Given the description of an element on the screen output the (x, y) to click on. 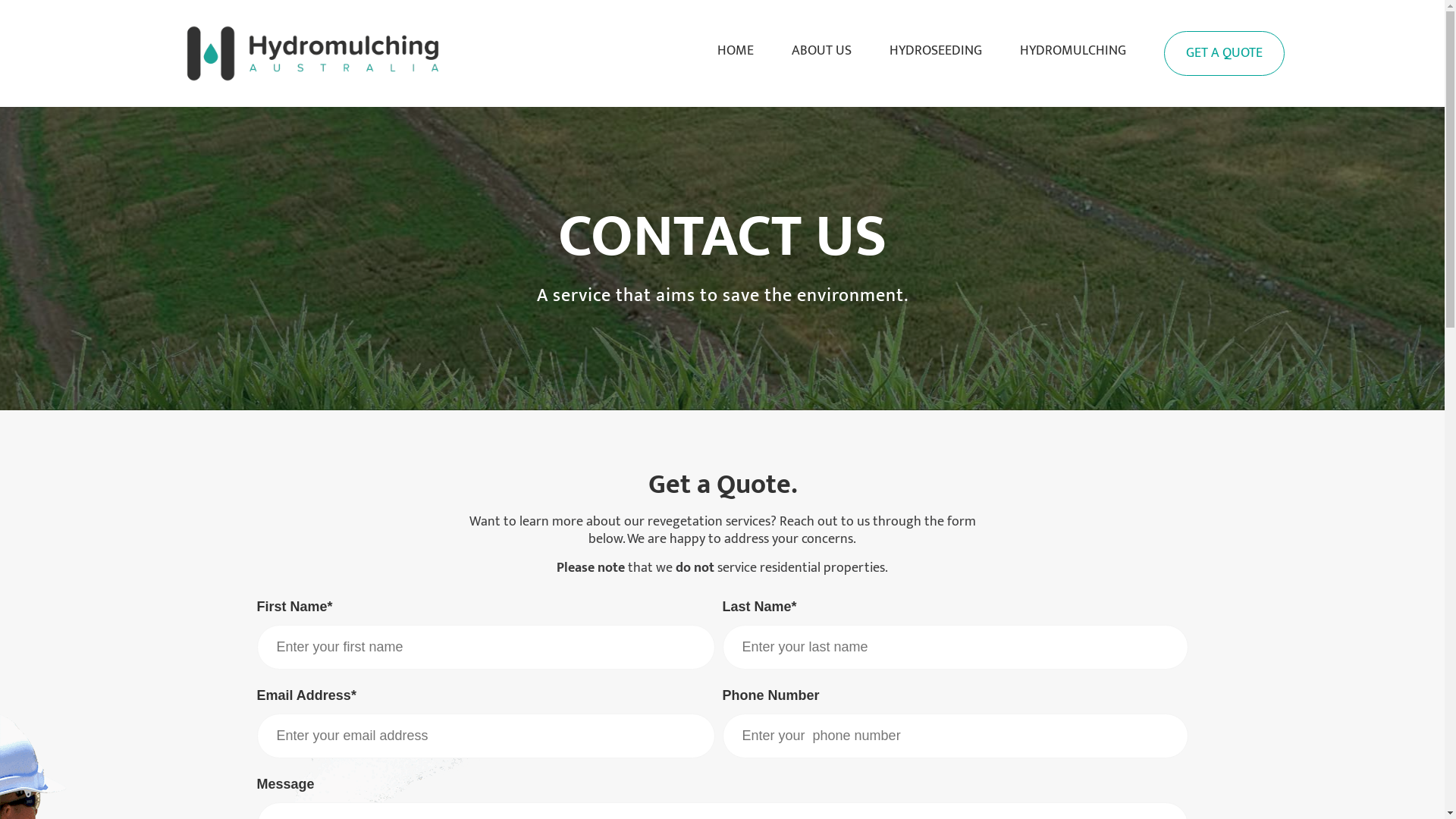
GET A QUOTE Element type: text (1224, 53)
HOME Element type: text (735, 51)
HYDROSEEDING Element type: text (935, 51)
ABOUT US Element type: text (821, 51)
HYDROMULCHING Element type: text (1072, 51)
